Given the description of an element on the screen output the (x, y) to click on. 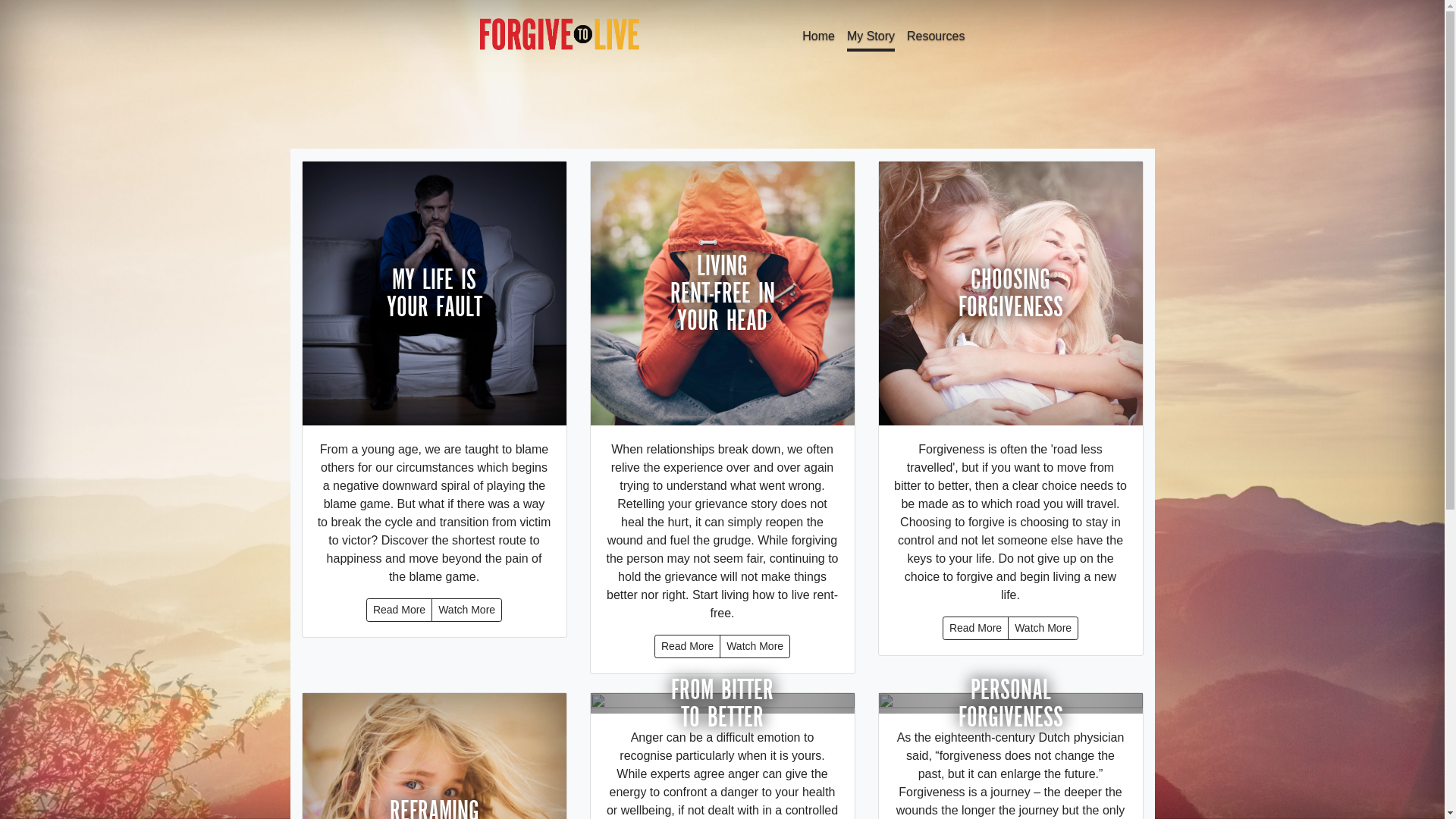
Read More Element type: text (687, 646)
Watch More Element type: text (466, 609)
Read More Element type: text (399, 609)
Resources Element type: text (935, 37)
LIVING
RENT-FREE IN
YOUR HEAD Element type: text (721, 293)
CHOOSING
FORGIVENESS Element type: text (1010, 293)
MY LIFE IS
YOUR FAULT Element type: text (433, 293)
Watch More Element type: text (754, 646)
Watch More Element type: text (1042, 628)
Home Element type: text (818, 37)
FROM BITTER
TO BETTER Element type: text (721, 703)
PERSONAL
FORGIVENESS Element type: text (1010, 703)
Read More Element type: text (975, 628)
My Story Element type: text (870, 37)
